Given the description of an element on the screen output the (x, y) to click on. 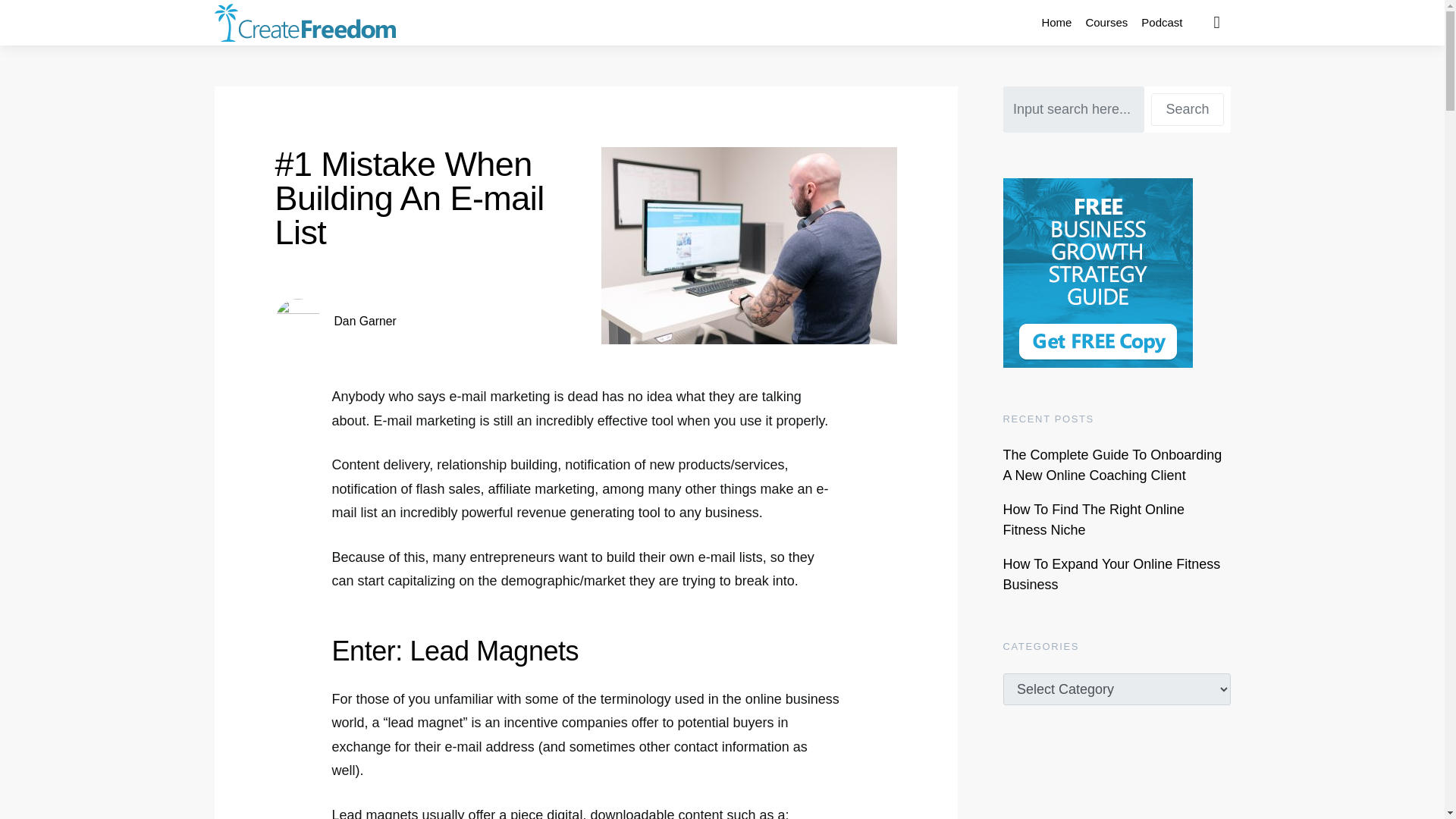
Courses (1106, 22)
Dan Garner (364, 320)
Podcast (1161, 22)
Home (1055, 22)
